Given the description of an element on the screen output the (x, y) to click on. 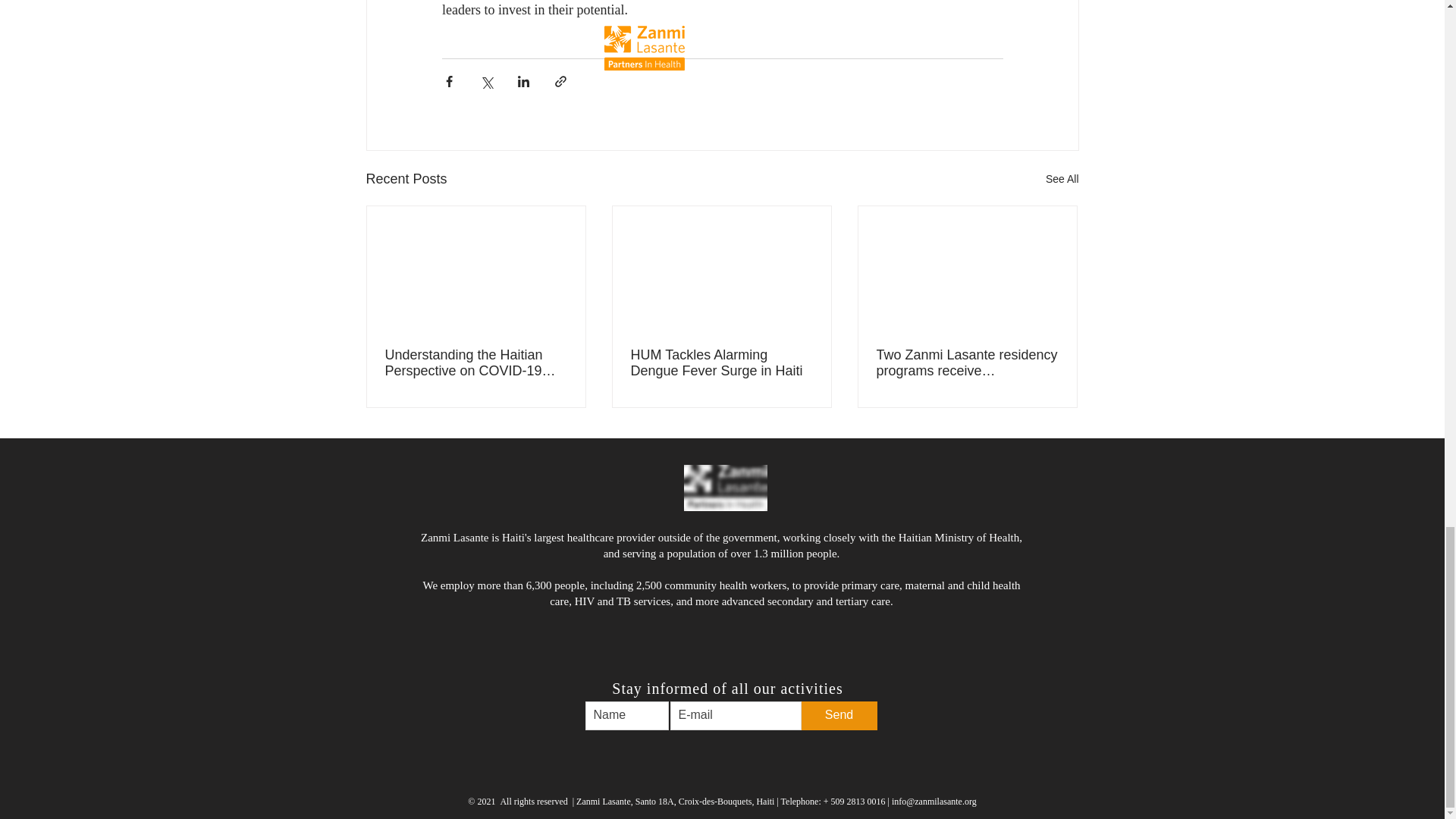
See All (1061, 179)
HUM Tackles Alarming Dengue Fever Surge in Haiti (721, 363)
Send (838, 715)
